Given the description of an element on the screen output the (x, y) to click on. 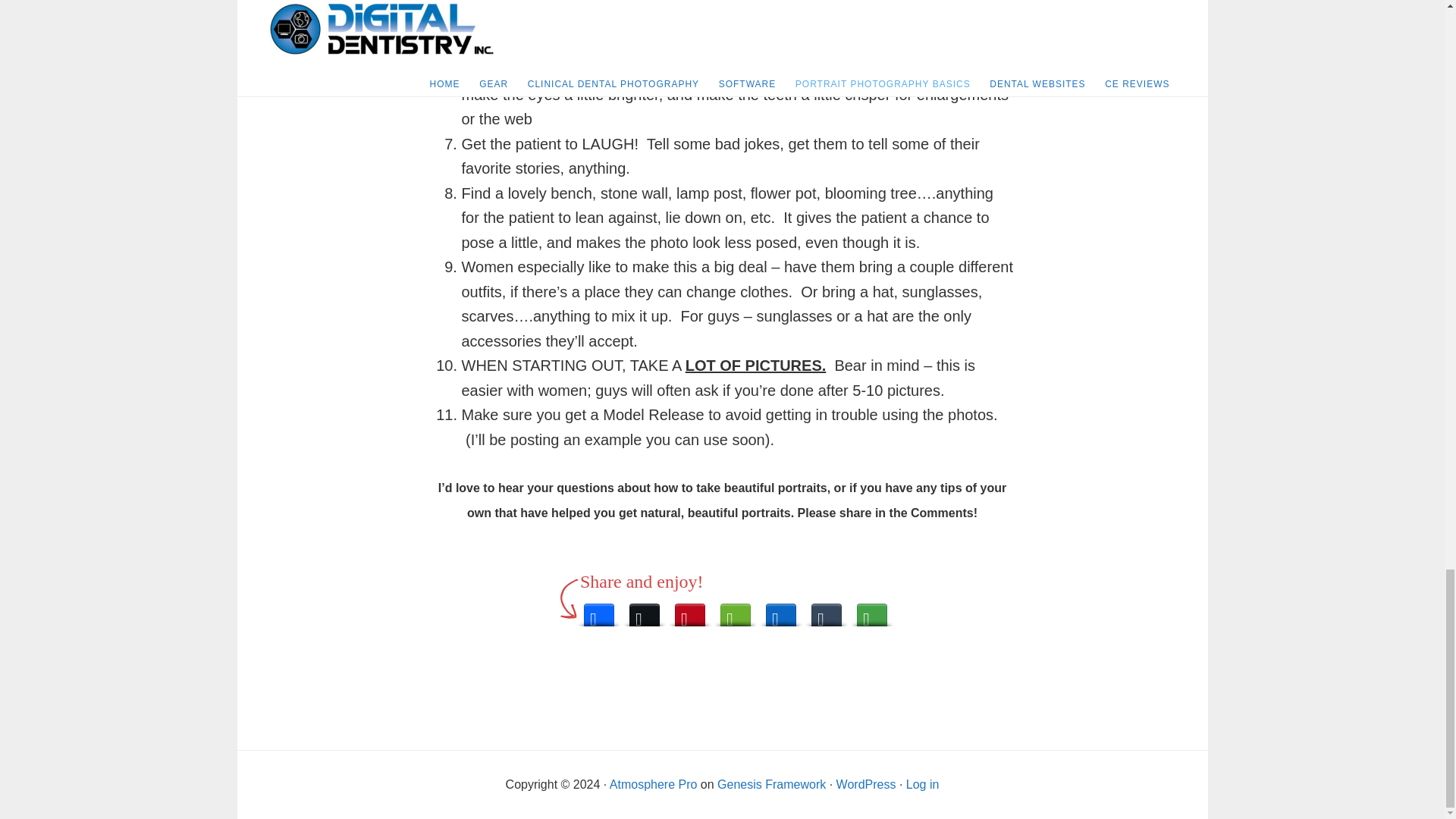
Genesis Framework (771, 784)
WordPress (865, 784)
Tumblr (825, 610)
Evernote (735, 610)
LinkedIn (780, 610)
More Options (871, 610)
Log in (922, 784)
Facebook (598, 610)
Atmosphere Pro (653, 784)
Pinterest (689, 610)
